Given the description of an element on the screen output the (x, y) to click on. 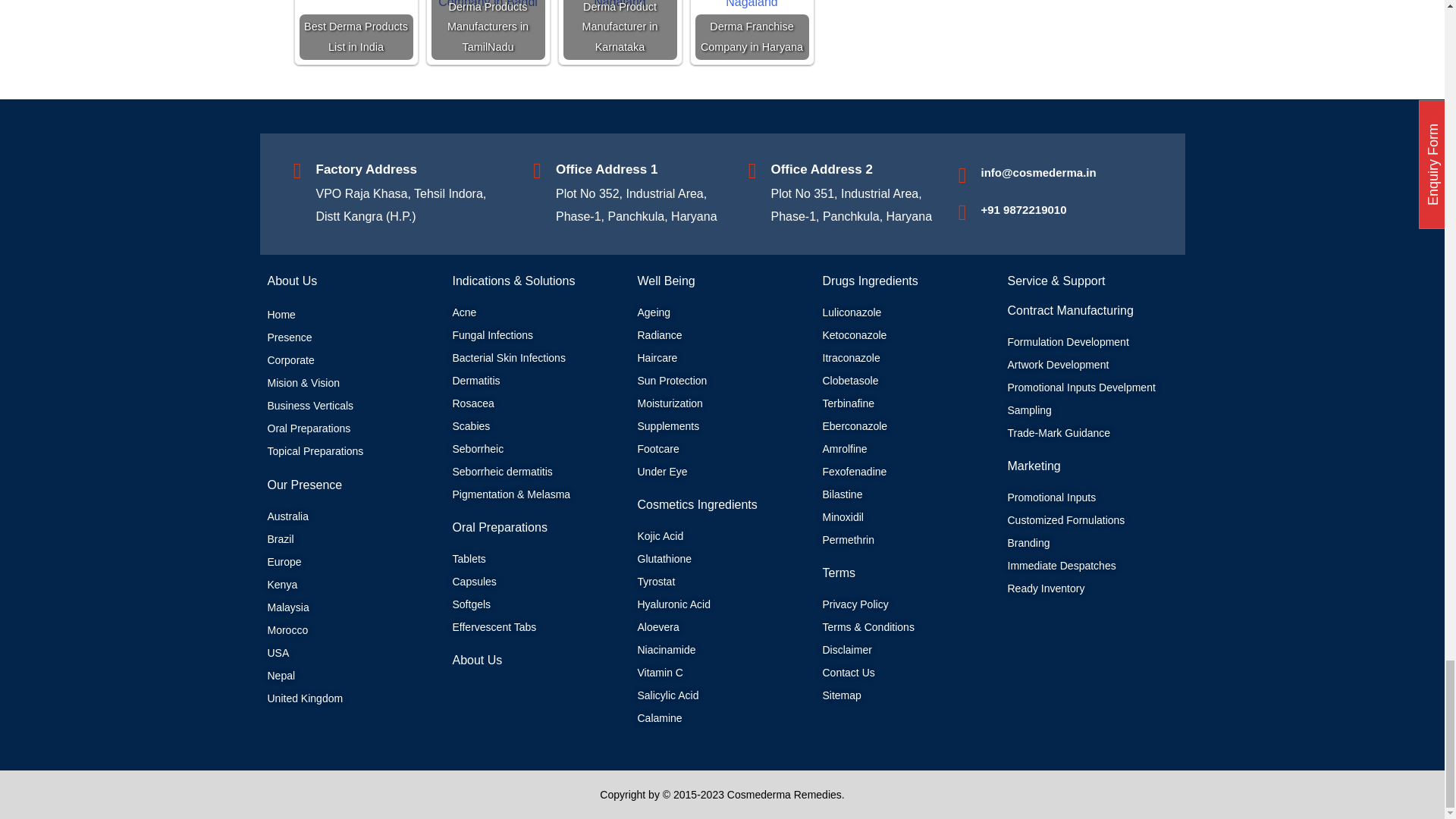
Derma Franchise Company in Haryana (751, 6)
Derma Products Manufacturers in TamilNadu (487, 6)
Derma Product Manufacturer in Karnataka (619, 6)
